Given the description of an element on the screen output the (x, y) to click on. 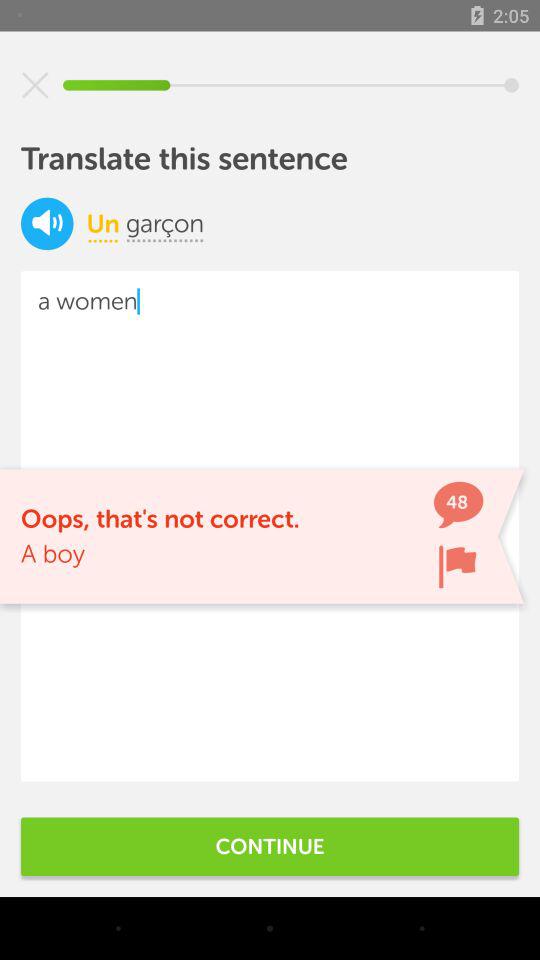
jump to un item (102, 223)
